Given the description of an element on the screen output the (x, y) to click on. 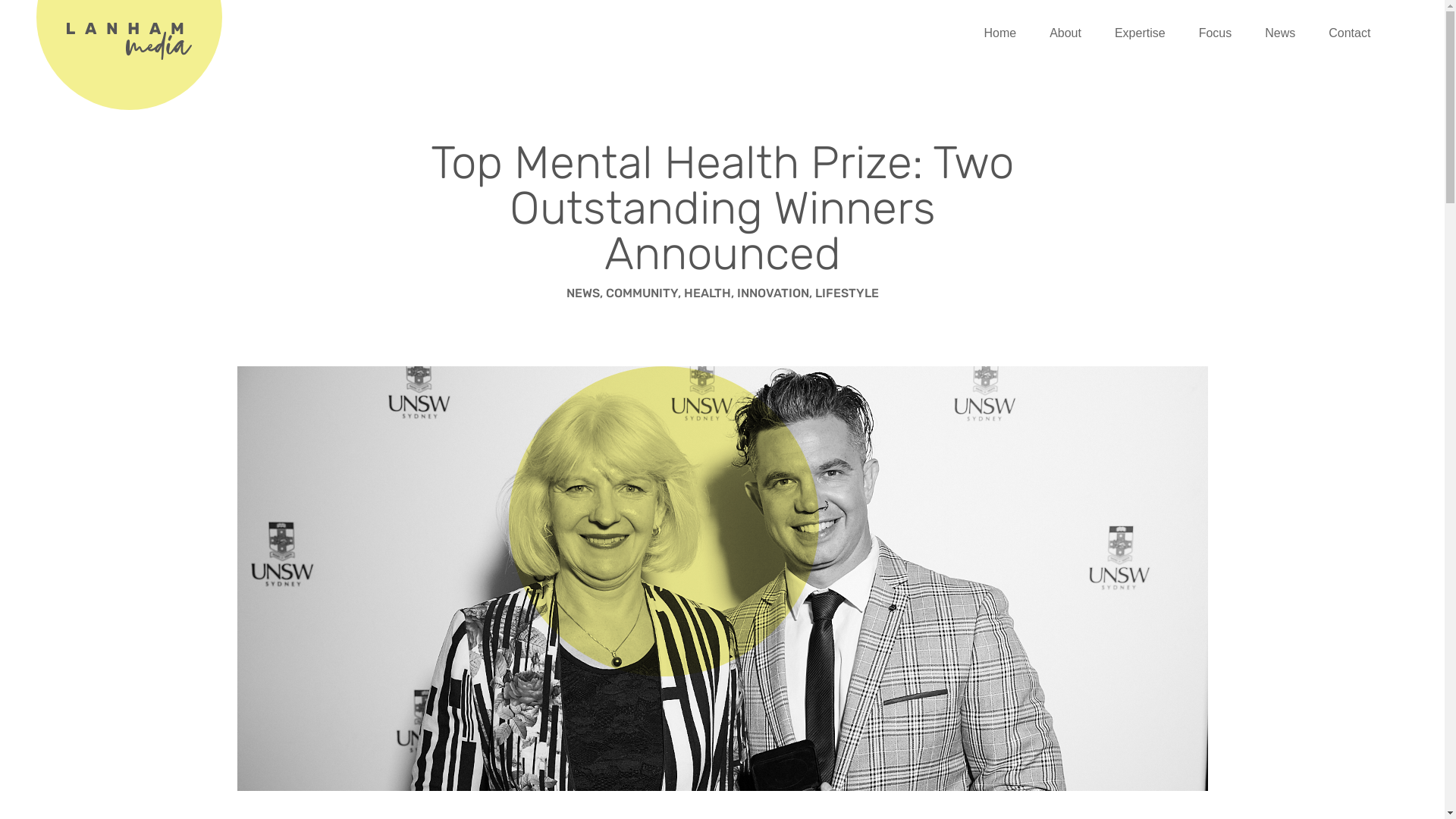
Focus Element type: text (1215, 33)
Home Element type: text (999, 33)
News Element type: text (1279, 33)
HEALTH Element type: text (707, 292)
Expertise Element type: text (1139, 33)
INNOVATION Element type: text (773, 292)
About Element type: text (1065, 33)
COMMUNITY Element type: text (641, 292)
NEWS Element type: text (582, 292)
LIFESTYLE Element type: text (846, 292)
Contact Element type: text (1349, 33)
